Given the description of an element on the screen output the (x, y) to click on. 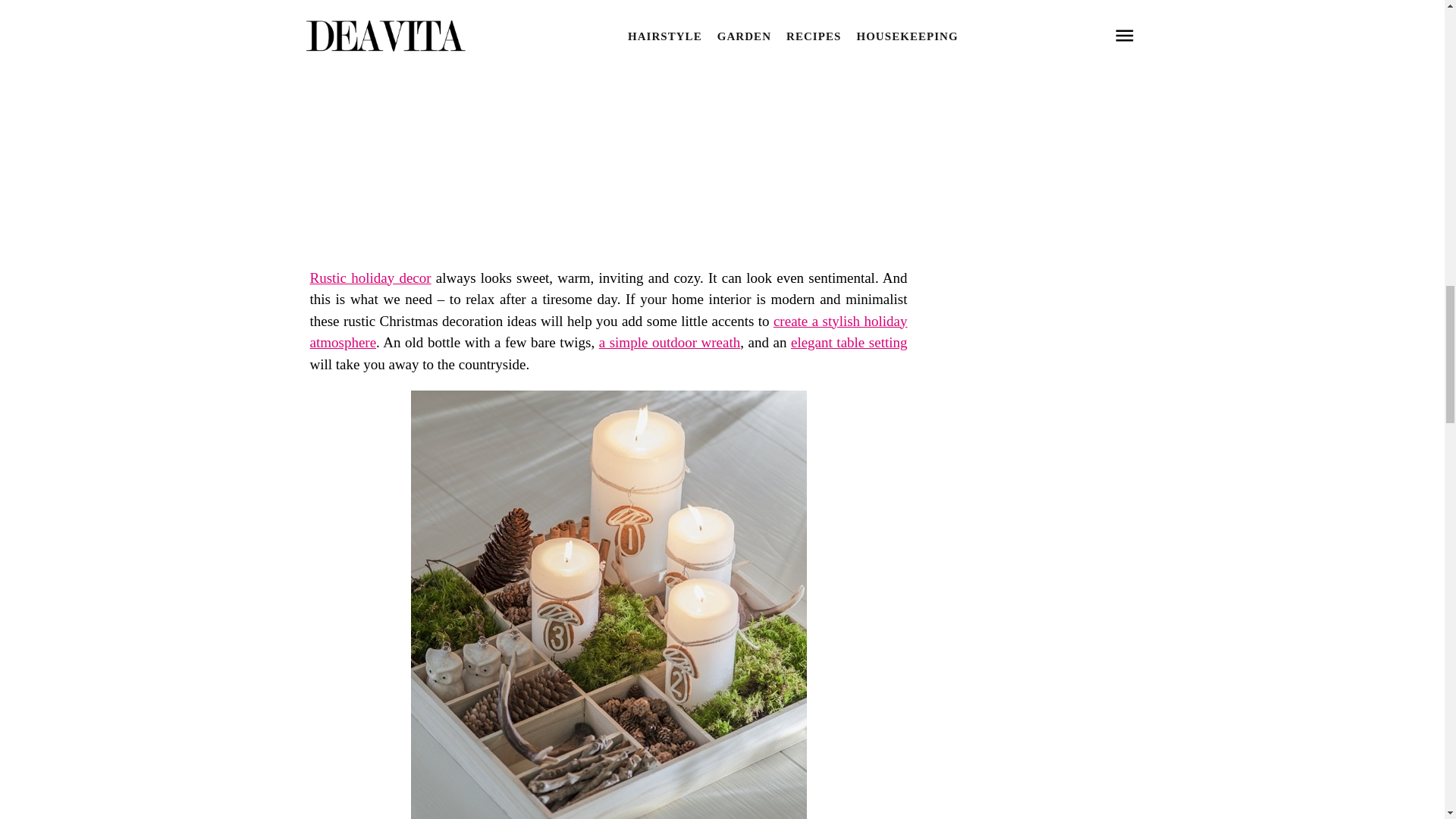
Creative rustic decorations nature colours (608, 6)
